Given the description of an element on the screen output the (x, y) to click on. 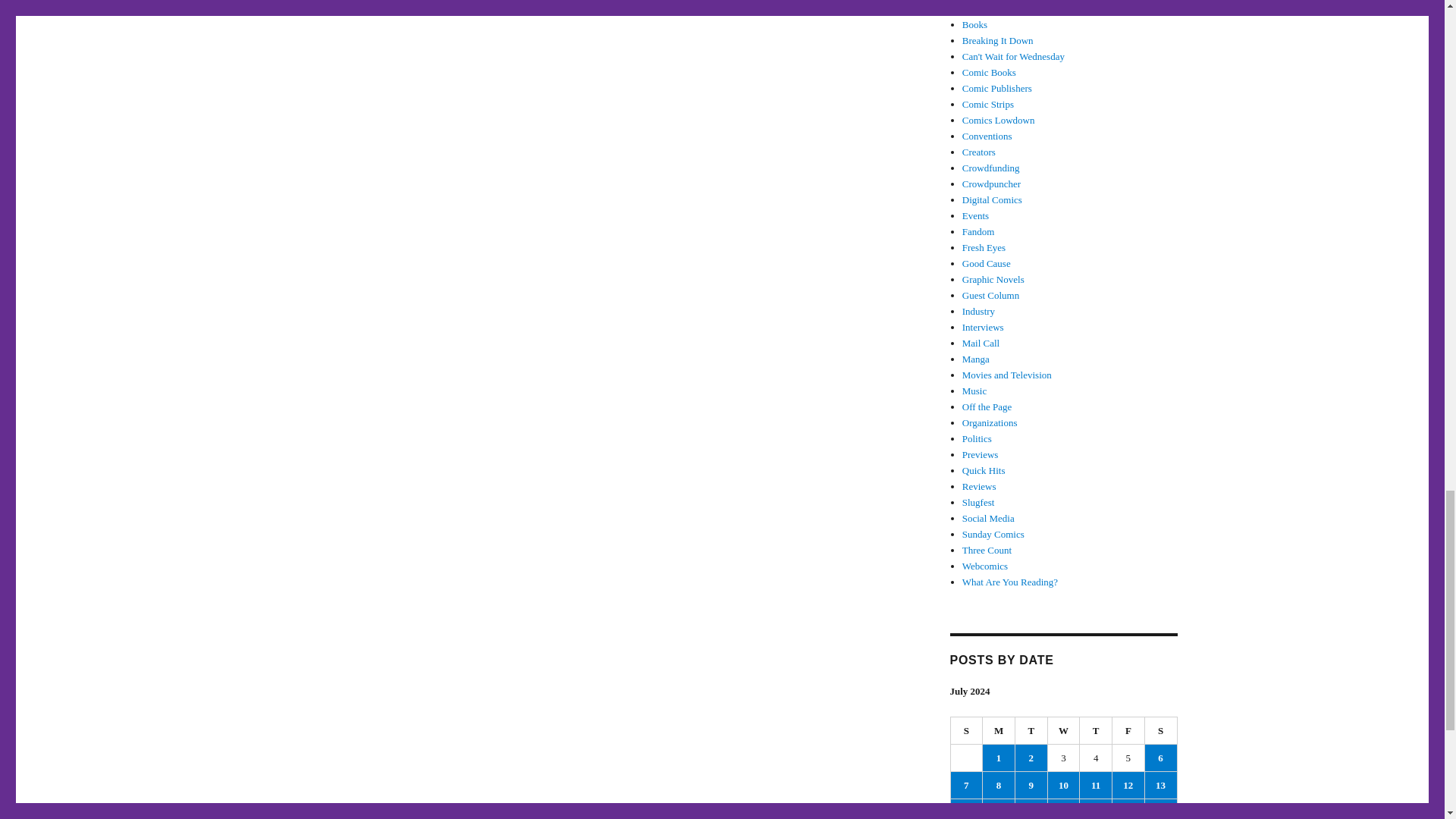
Saturday (1160, 730)
Sunday (967, 730)
Friday (1128, 730)
Thursday (1096, 730)
Wednesday (1064, 730)
Monday (998, 730)
Tuesday (1031, 730)
